Given the description of an element on the screen output the (x, y) to click on. 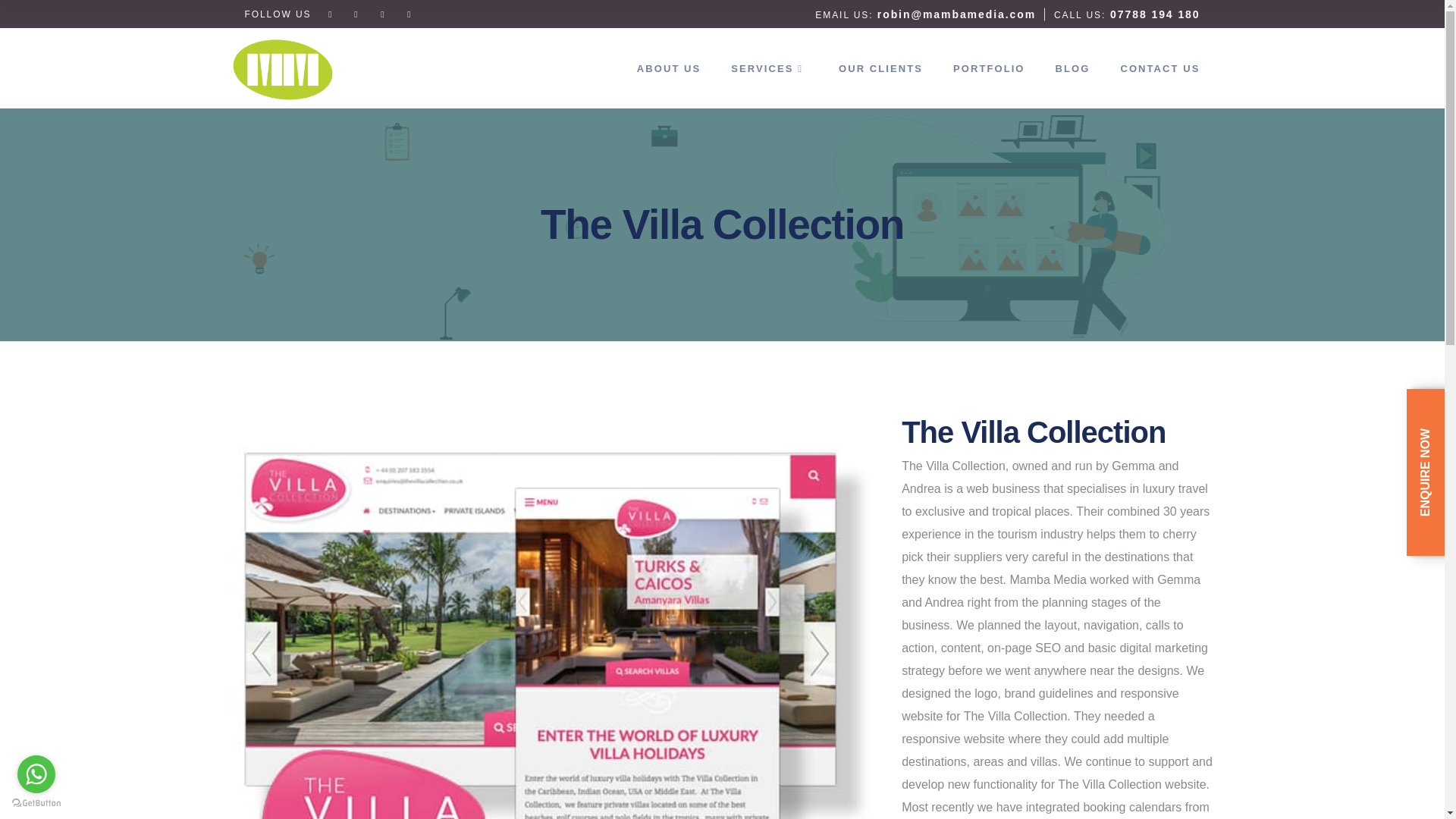
CONTACT US (1159, 67)
ABOUT US (668, 67)
OUR CLIENTS (880, 67)
SERVICES (770, 67)
PORTFOLIO (989, 67)
07788 194 180 (1154, 13)
BLOG (1073, 67)
